Given the description of an element on the screen output the (x, y) to click on. 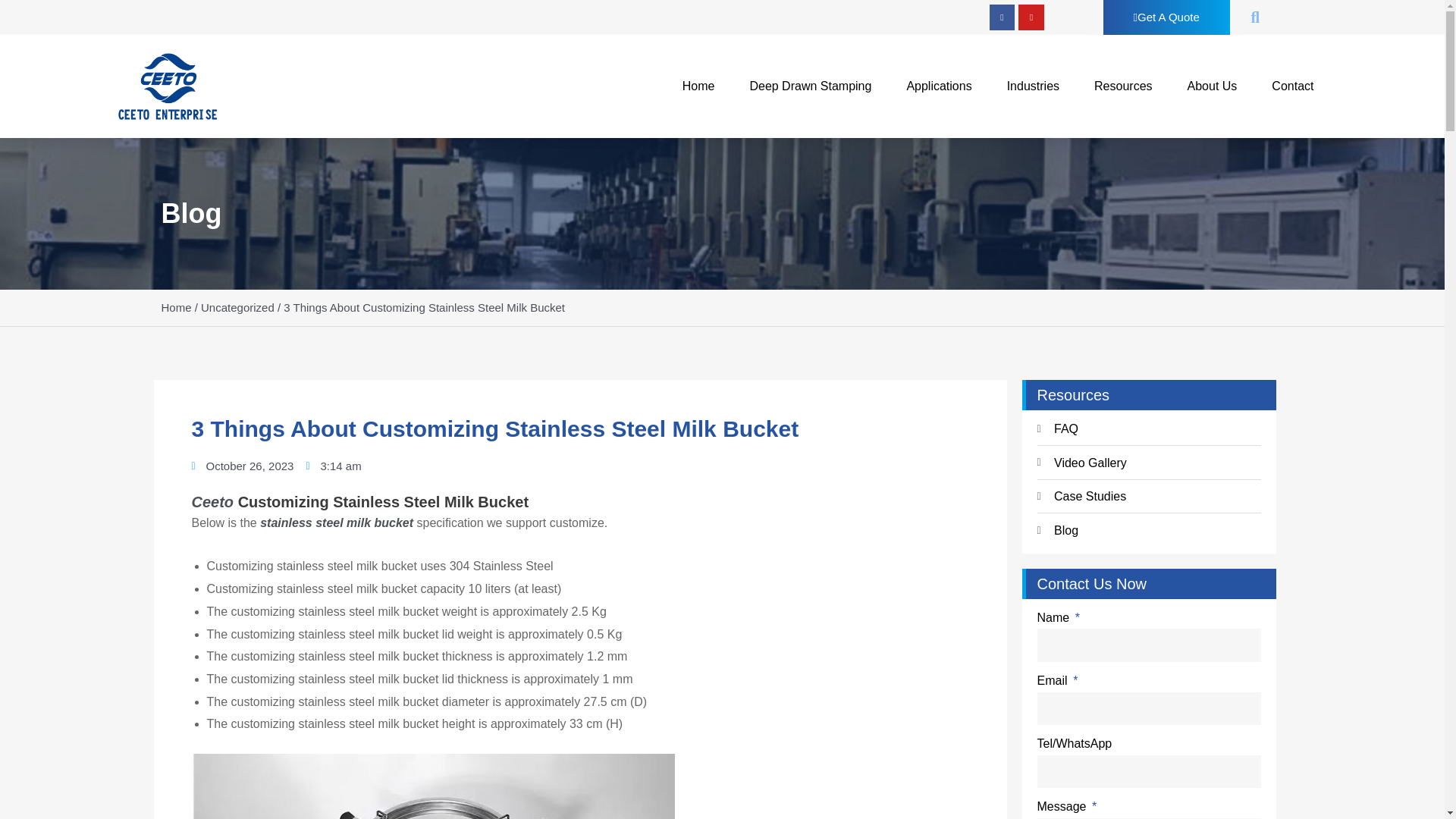
Applications (939, 86)
Deep Drawn Stamping (809, 86)
Industries (1032, 86)
Get A Quote (1166, 17)
Contact (1291, 86)
Resources (1122, 86)
Home (698, 86)
About Us (1212, 86)
